Given the description of an element on the screen output the (x, y) to click on. 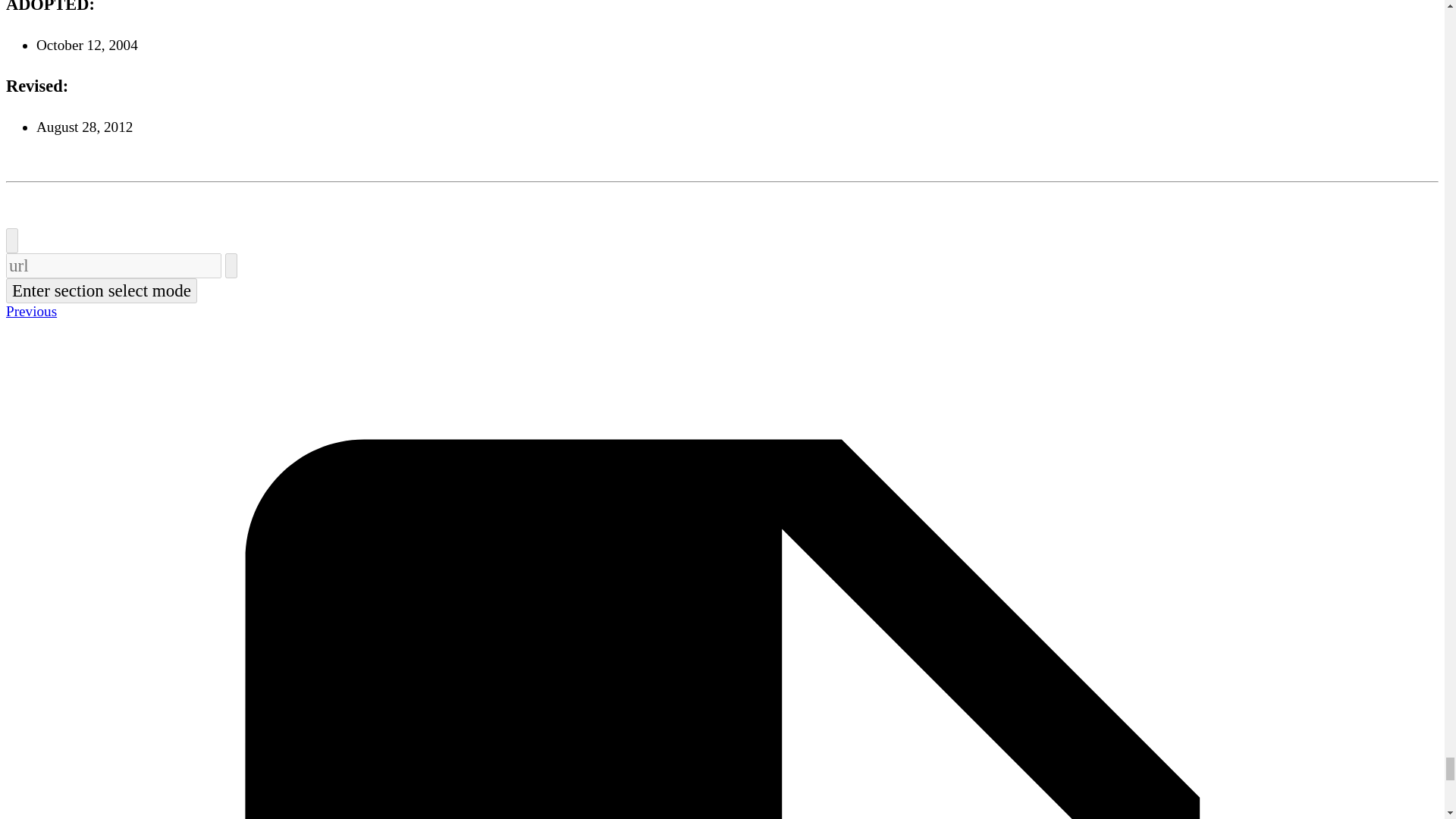
Permalink mode, Press to show include tag (11, 240)
Copy Link (231, 265)
